Given the description of an element on the screen output the (x, y) to click on. 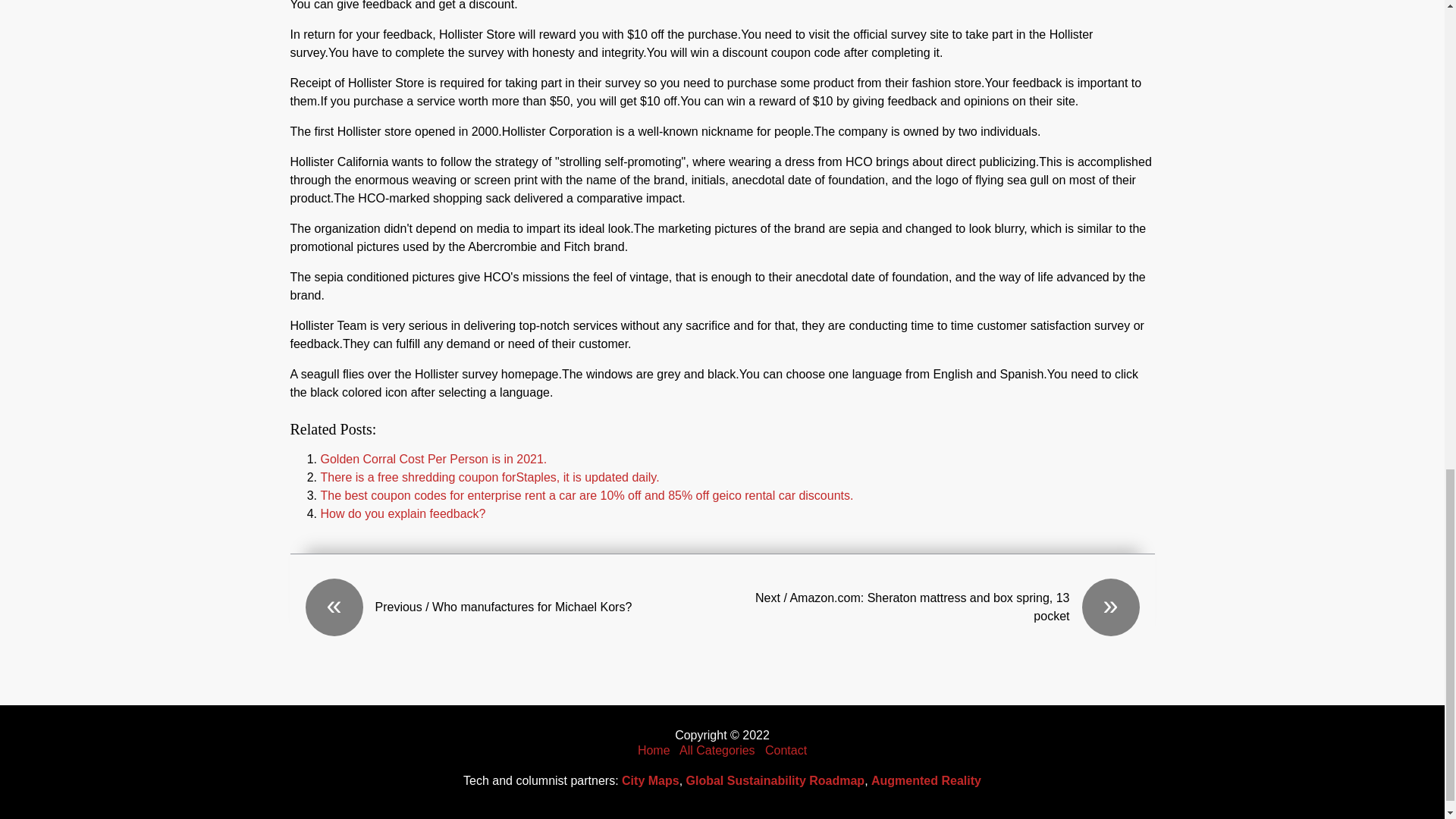
Who manufactures for Michael Kors? (513, 606)
Augmented Reality (925, 780)
Global Sustainability Roadmap (774, 780)
Home (653, 749)
Contact Us (785, 749)
How do you explain feedback? (402, 513)
Amazon.com: Sheraton mattress and box spring, 13 pocket (930, 606)
All Categories (717, 749)
Parkers Legacy (653, 749)
City Maps (650, 780)
